Given the description of an element on the screen output the (x, y) to click on. 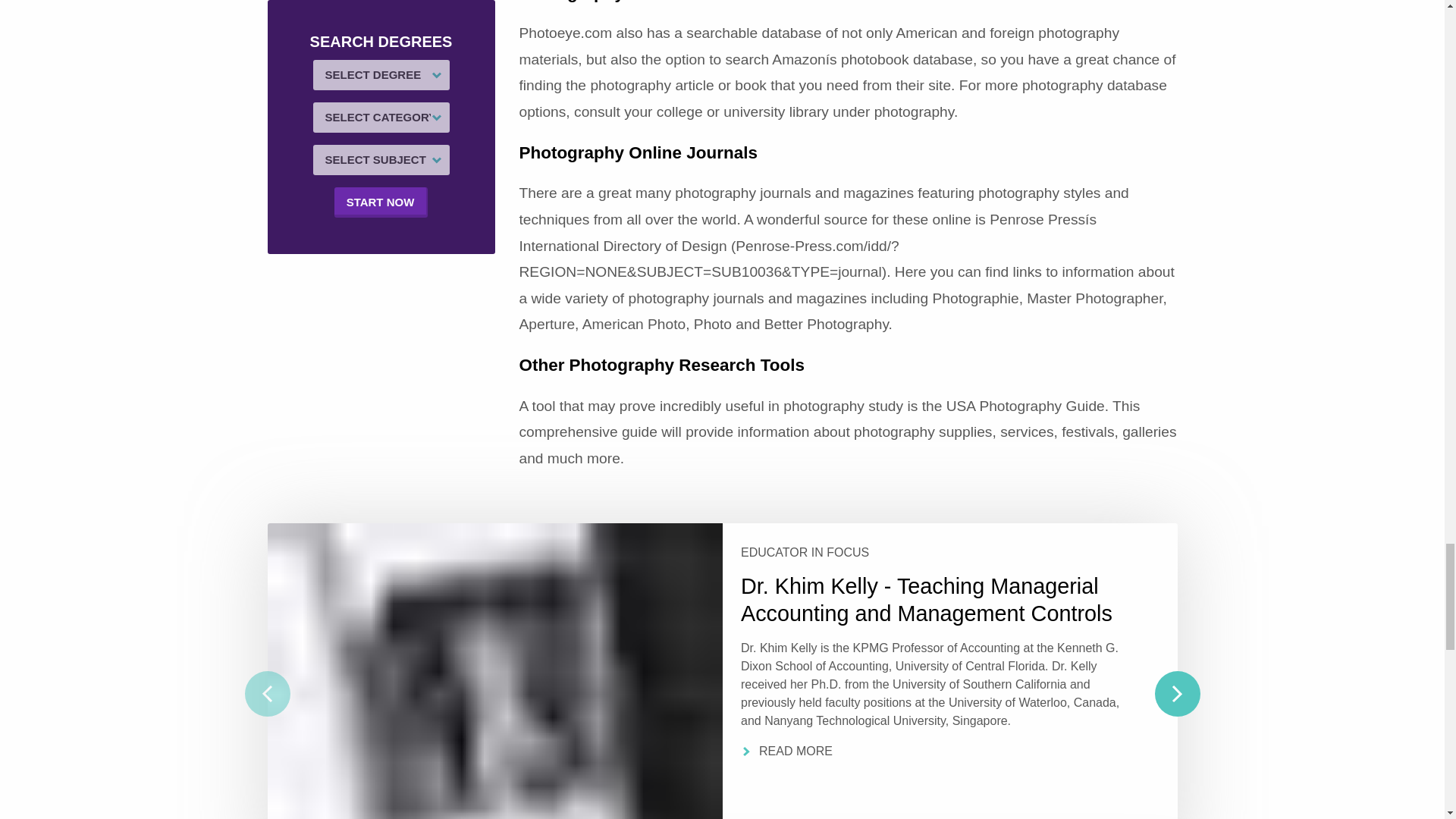
Educator in Focus (935, 552)
READ MORE (935, 751)
EDUCATOR IN FOCUS (935, 552)
